Given the description of an element on the screen output the (x, y) to click on. 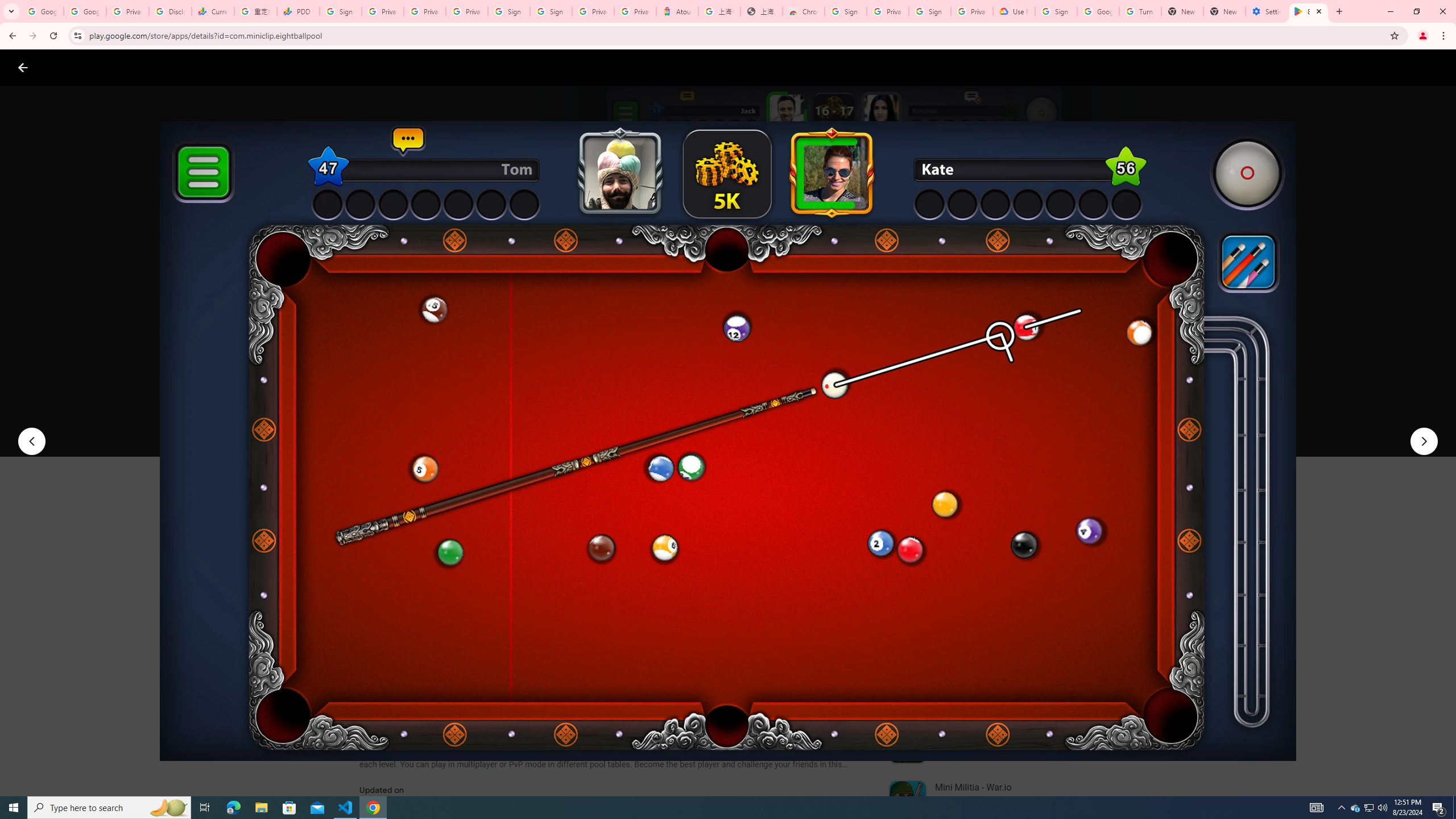
Sign in - Google Accounts (845, 11)
PDD Holdings Inc - ADR (PDD) Price & News - Google Finance (298, 11)
Games (141, 67)
Chrome Web Store - Color themes by Chrome (803, 11)
Next (1424, 441)
Screenshot image (817, 563)
Install (416, 423)
Content rating (553, 373)
Privacy Checkup (424, 11)
